Given the description of an element on the screen output the (x, y) to click on. 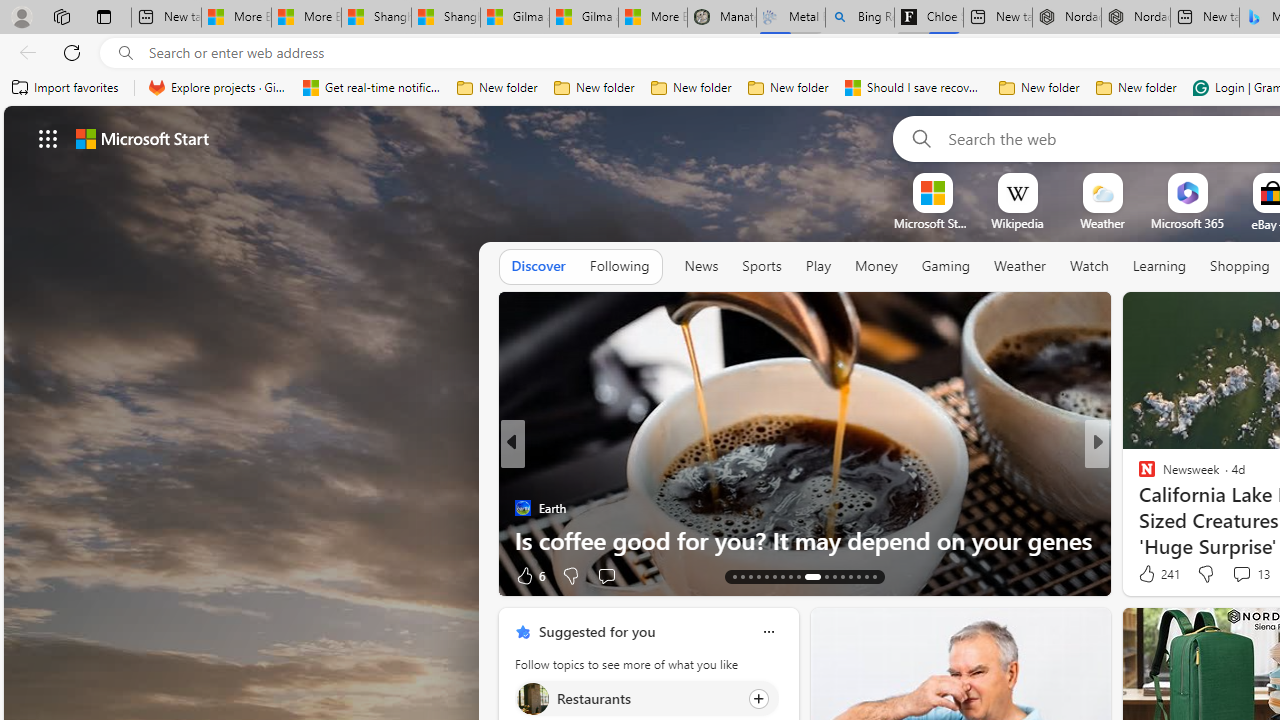
AutomationID: tab-16 (757, 576)
Nordace - #1 Japanese Best-Seller - Siena Smart Backpack (1135, 17)
241 Like (1157, 574)
AutomationID: tab-26 (850, 576)
View comments 18 Comment (1244, 574)
AutomationID: tab-24 (833, 576)
New tab (1205, 17)
View comments 5 Comment (1234, 574)
Play (817, 265)
Workspaces (61, 16)
Class: icon-img (768, 632)
Business Insider (1138, 475)
Restaurants (532, 697)
New folder (1136, 88)
